Given the description of an element on the screen output the (x, y) to click on. 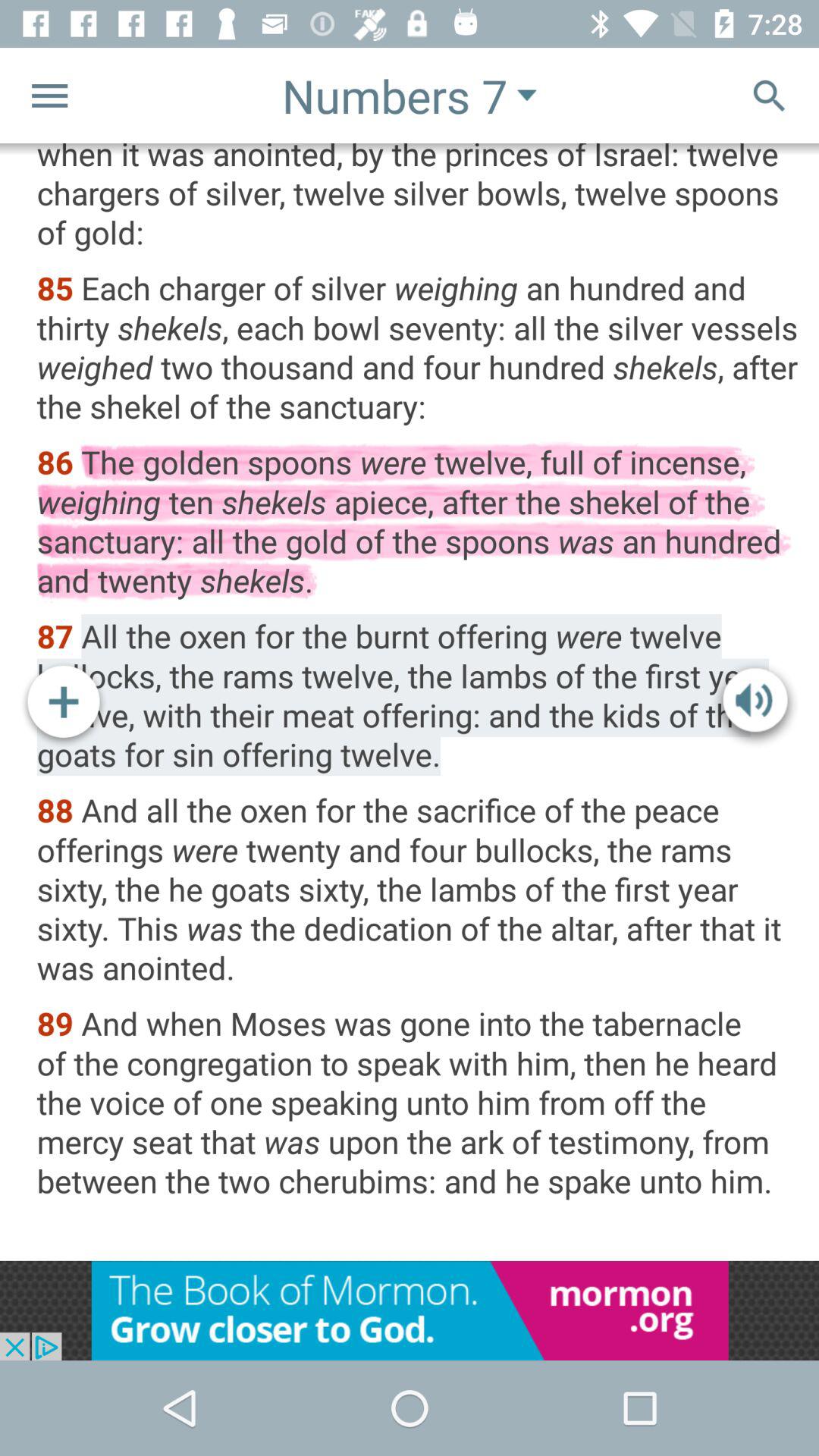
click on the volume icon (755, 704)
select the icon just below the time 728 (769, 95)
select the icon which is beside 7 (526, 95)
